Given the description of an element on the screen output the (x, y) to click on. 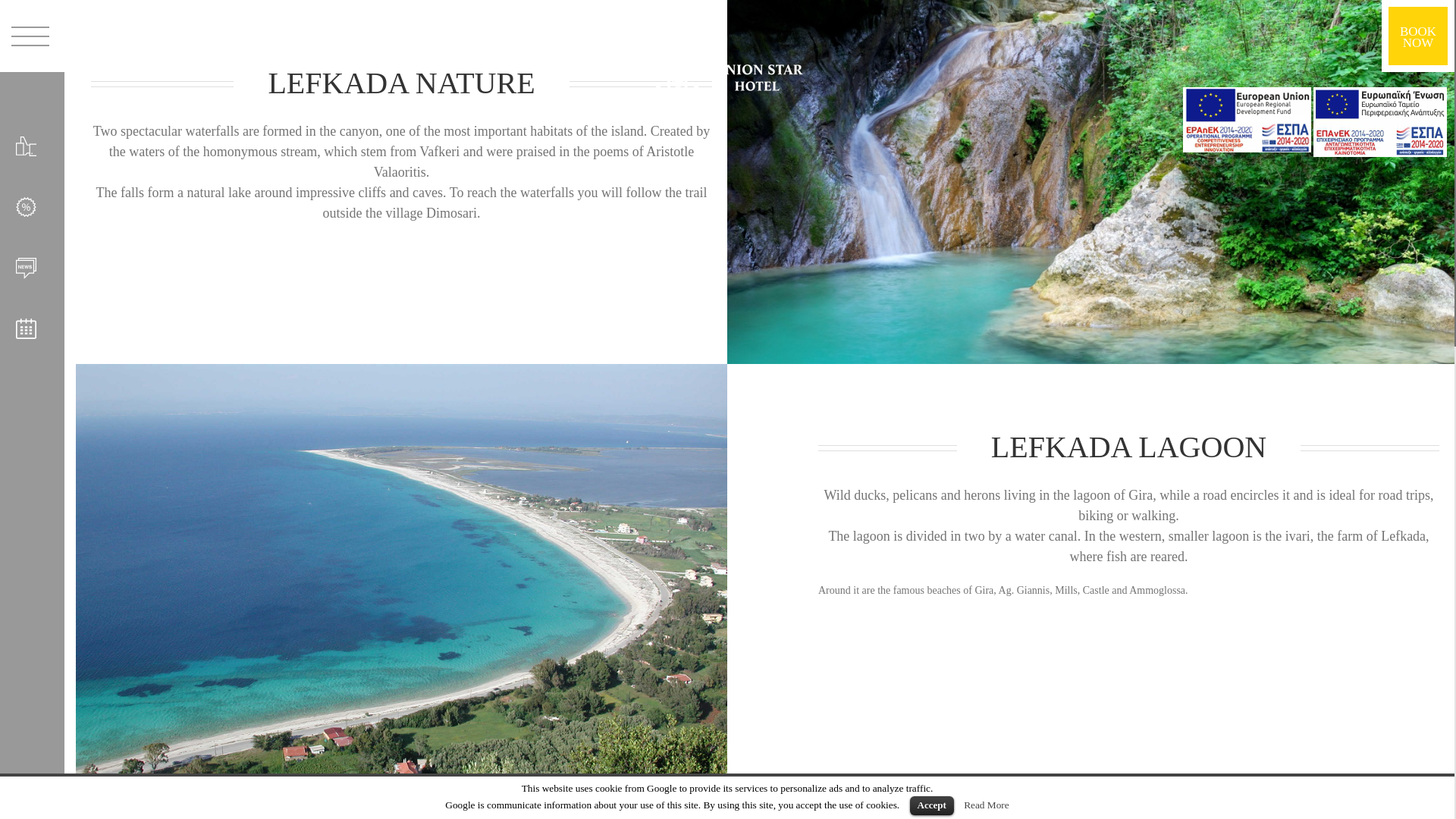
Read More (986, 804)
BOOK NOW (1418, 35)
Accept (931, 805)
